Given the description of an element on the screen output the (x, y) to click on. 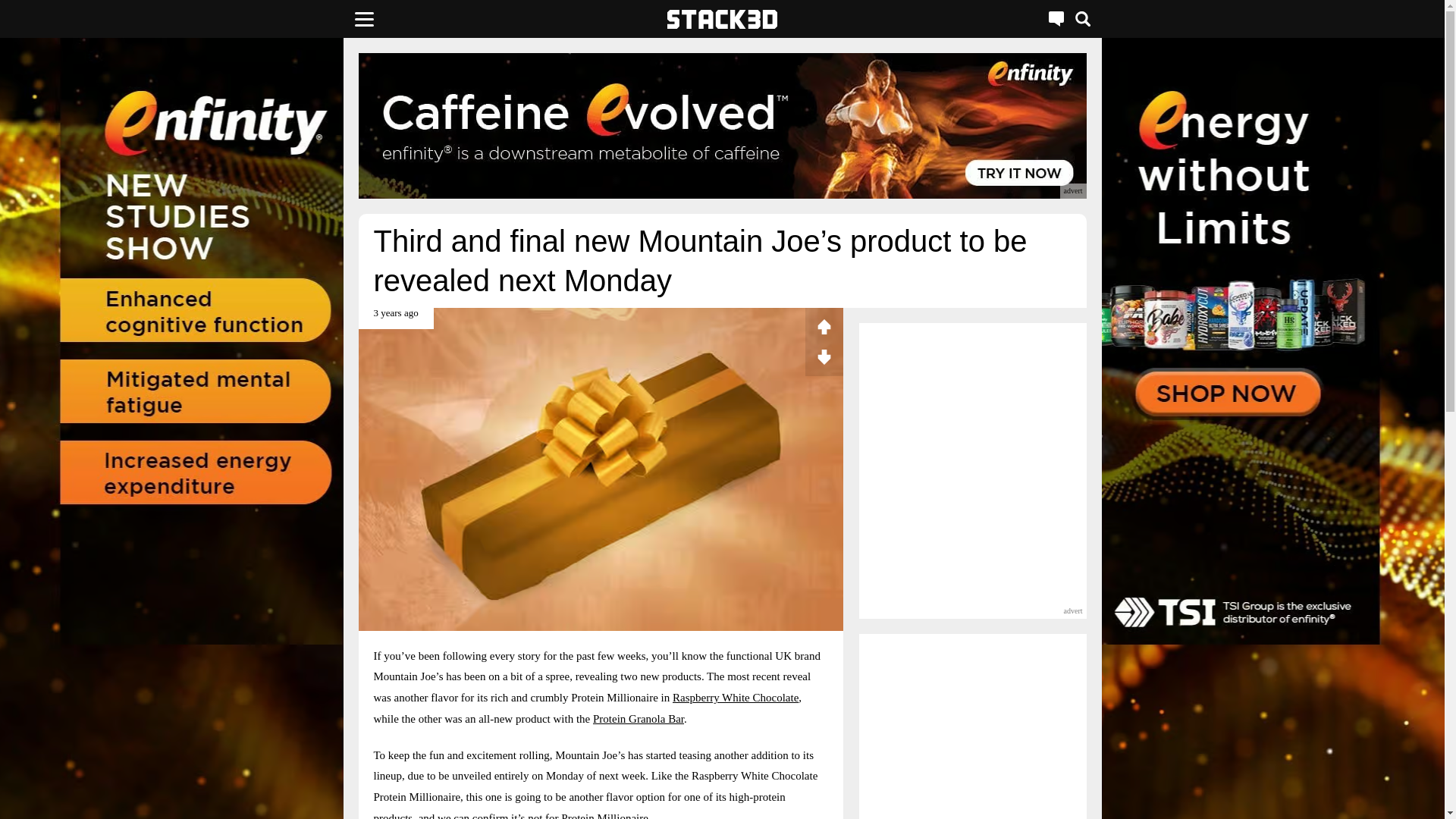
Raspberry White Chocolate (734, 697)
February 16th 2021 (395, 318)
Protein Granola Bar (638, 718)
